Given the description of an element on the screen output the (x, y) to click on. 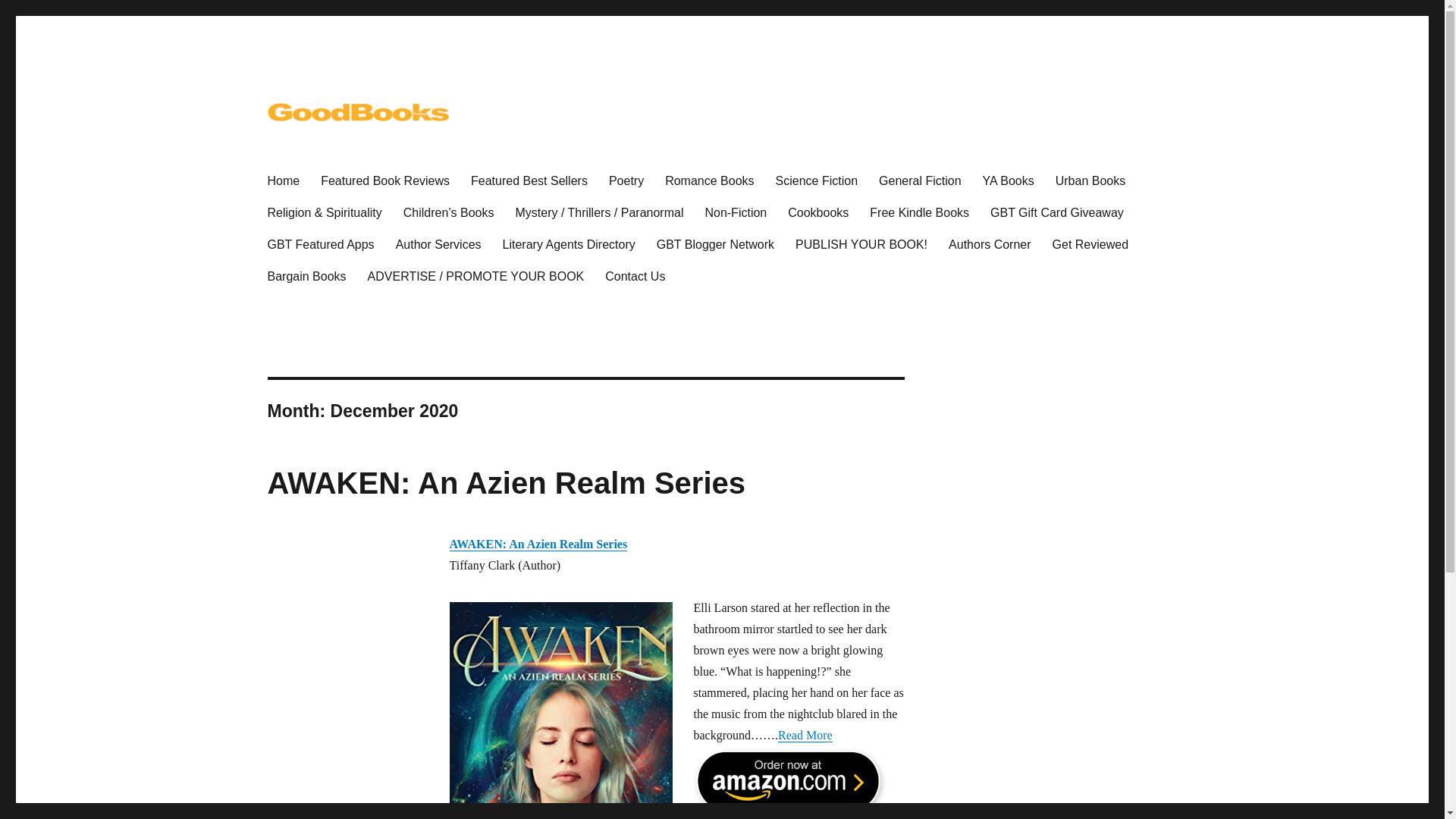
Science Fiction (817, 180)
Literary Agents Directory (569, 244)
GBT Featured Apps (320, 244)
Get Reviewed (1091, 244)
General Fiction (919, 180)
Home (283, 180)
PUBLISH YOUR BOOK! (860, 244)
Urban Books (1091, 180)
Contact Us (634, 275)
YA Books (1008, 180)
